Given the description of an element on the screen output the (x, y) to click on. 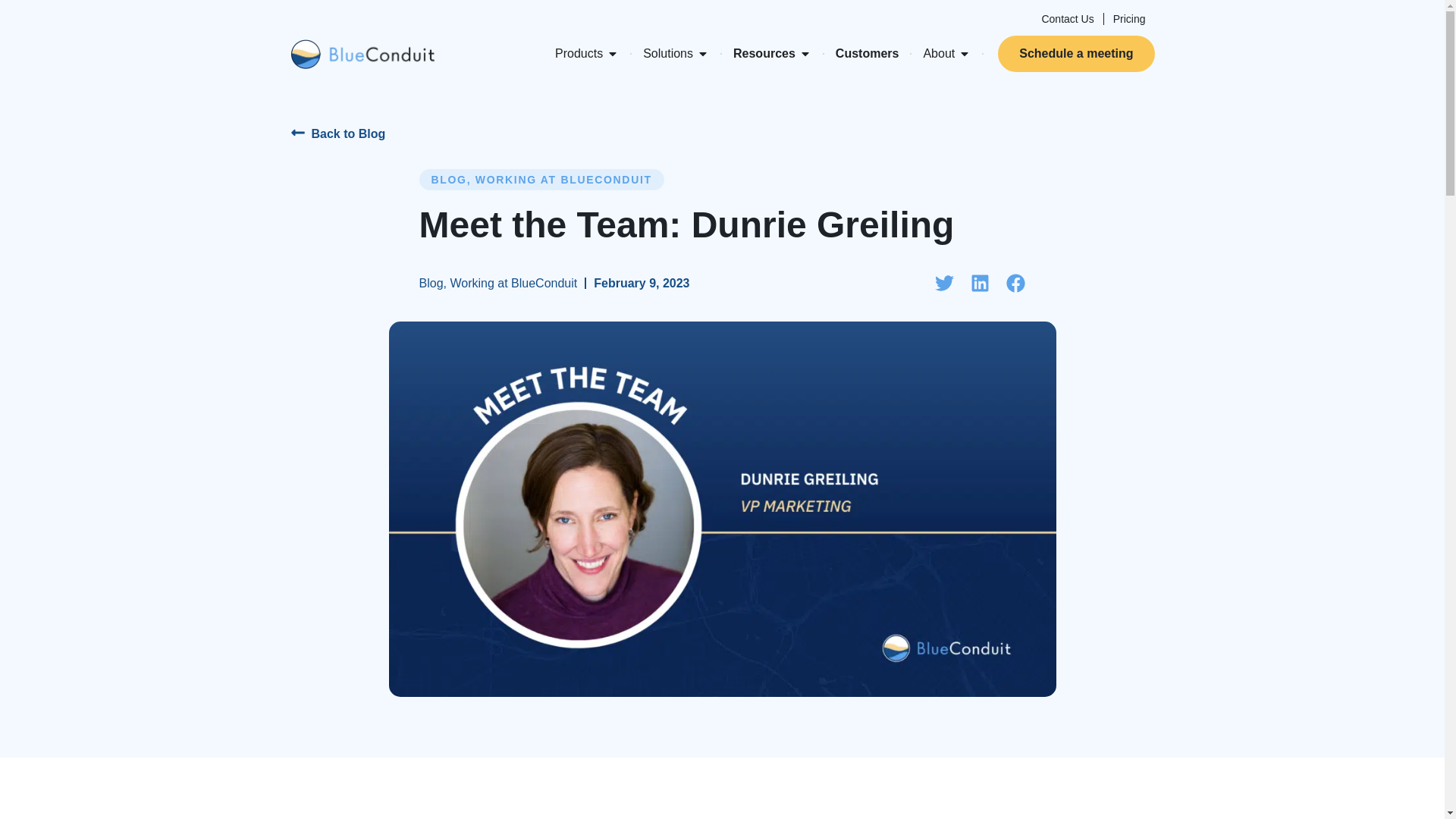
Contact Us (1067, 18)
Pricing (1128, 18)
Resources (763, 53)
Customers (867, 53)
Schedule a meeting (1075, 54)
